Given the description of an element on the screen output the (x, y) to click on. 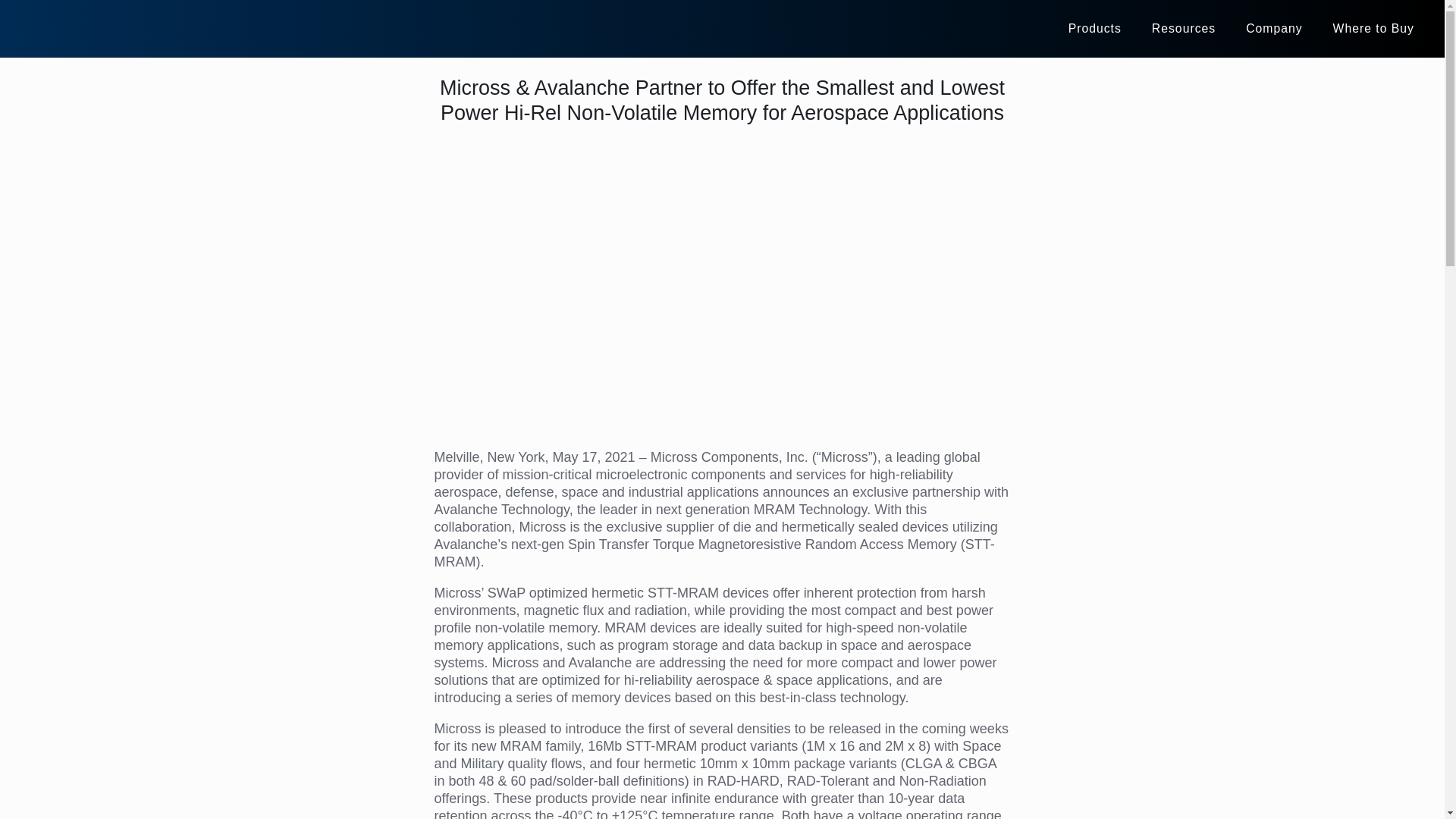
Where to Buy (1373, 28)
Resources (1183, 28)
Company (1273, 28)
Products (1094, 28)
